Given the description of an element on the screen output the (x, y) to click on. 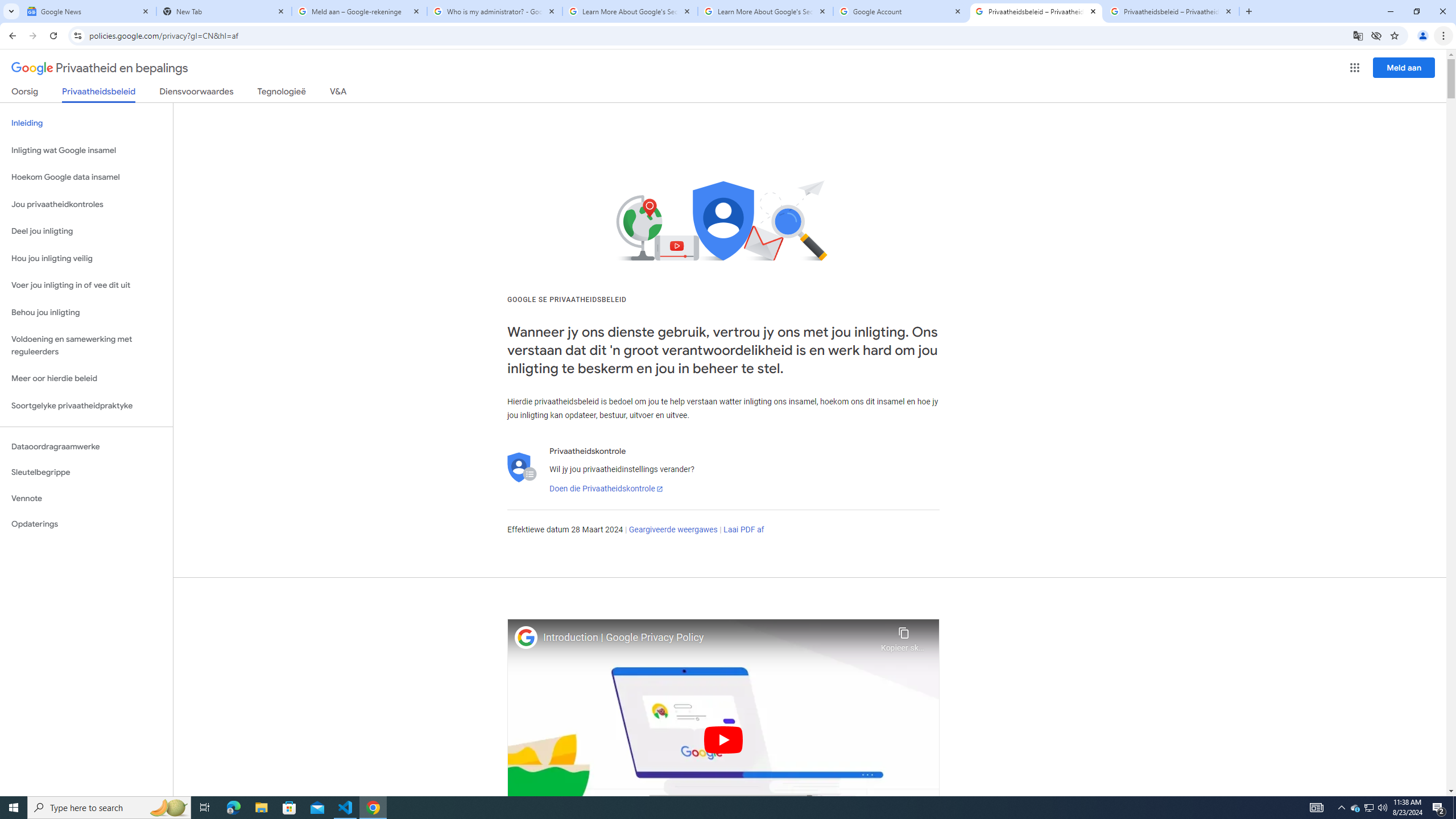
Meer oor hierdie beleid (86, 379)
Translate this page (1358, 35)
Laai PDF af (743, 529)
Soortgelyke privaatheidpraktyke (86, 405)
Voer jou inligting in of vee dit uit (86, 284)
Oorsig (25, 93)
Geargiveerde weergawes (672, 529)
